Given the description of an element on the screen output the (x, y) to click on. 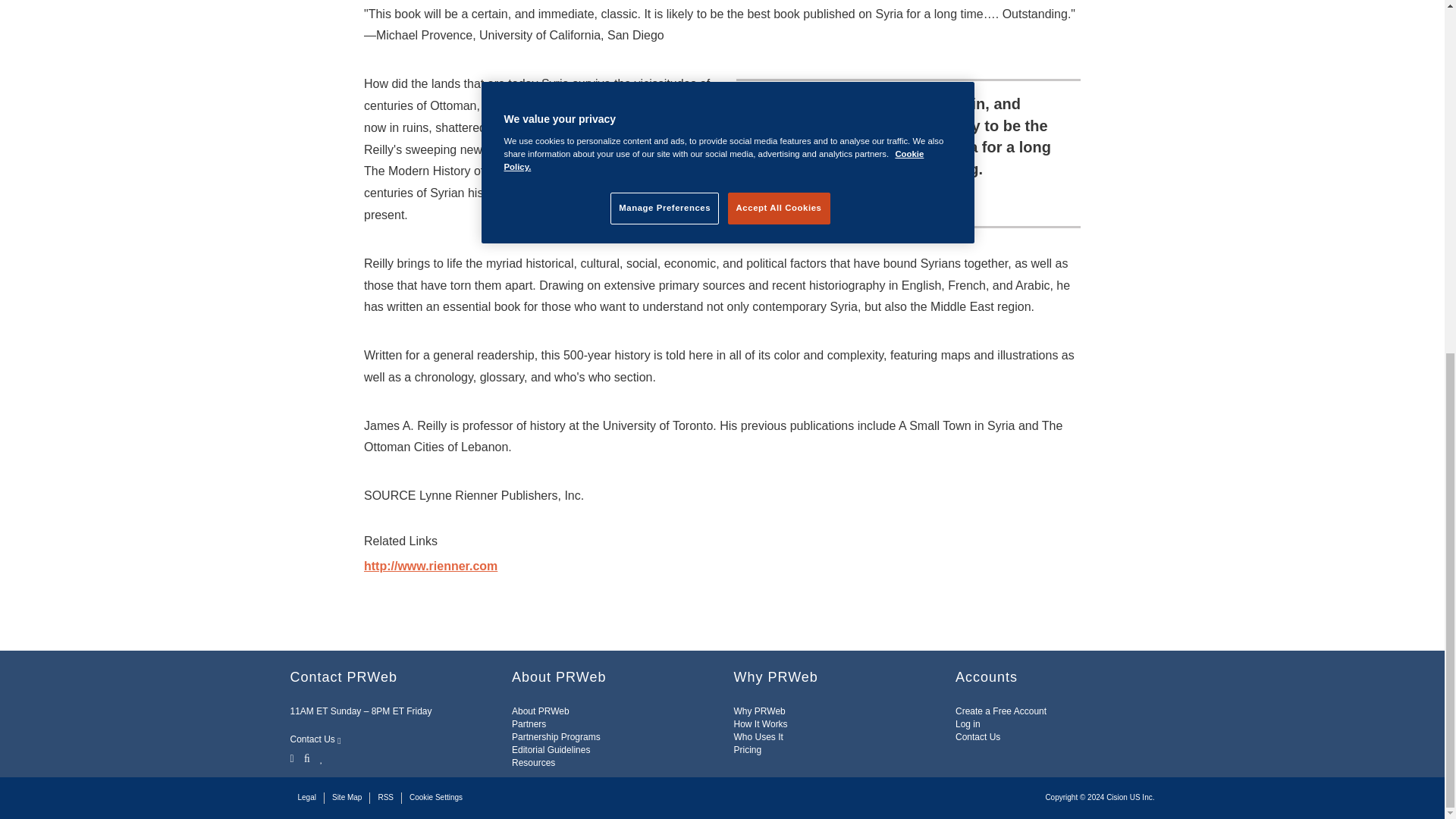
Partnership Programs (555, 737)
LinkedIn (321, 757)
Why PRWeb (759, 710)
Facebook (306, 757)
About PRWeb (540, 710)
Twitter (293, 757)
Resources (533, 762)
Editorial Guidelines (550, 749)
Partners (529, 724)
How It Works (760, 724)
